Given the description of an element on the screen output the (x, y) to click on. 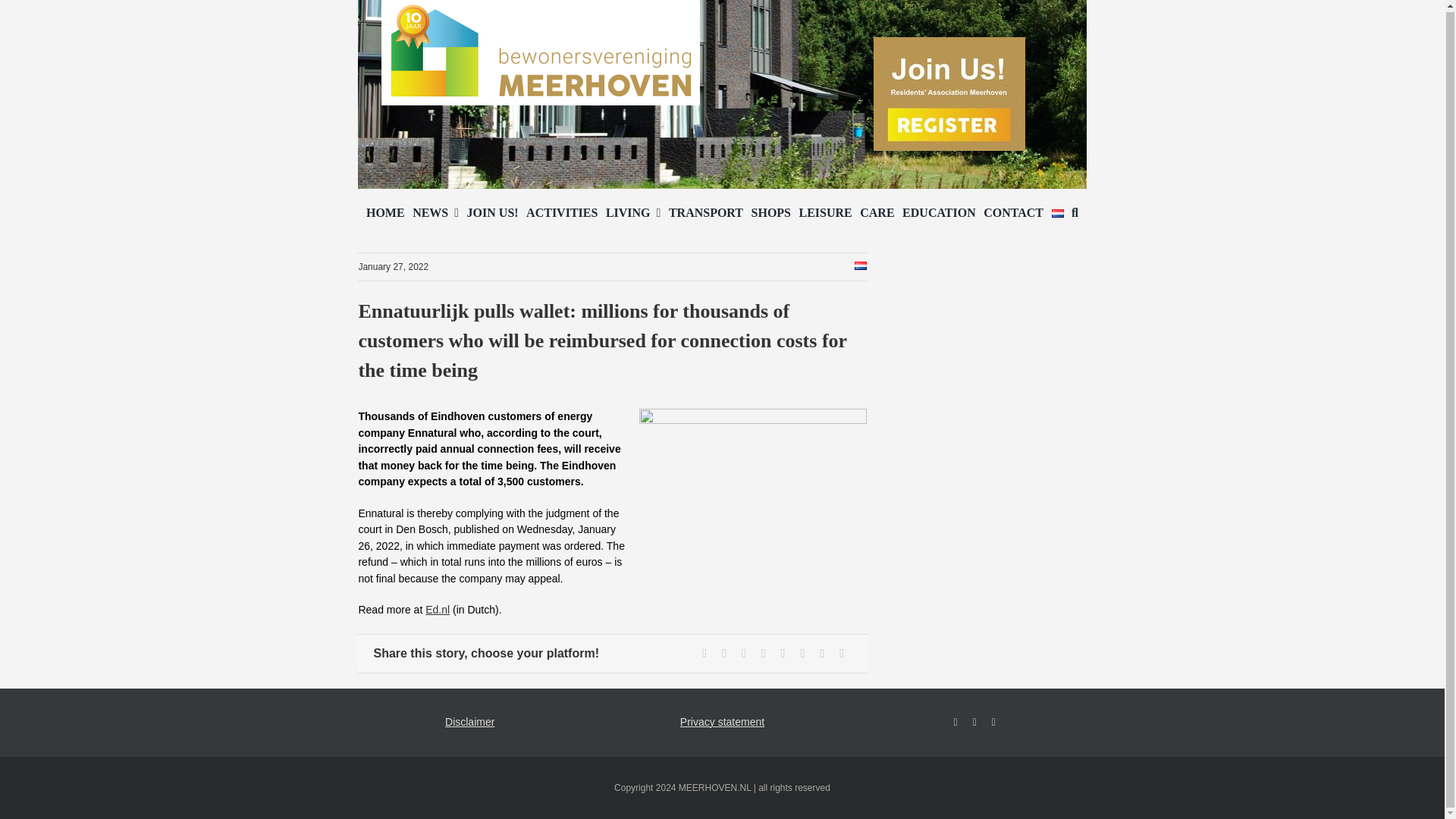
CONTACT (1013, 213)
Facebook (704, 653)
Email (841, 653)
LEISURE (825, 213)
Logo-BMV-10-jaar (540, 52)
JOIN US! (492, 213)
Vk (821, 653)
ACTIVITIES (560, 213)
LinkedIn (763, 653)
Tumblr (783, 653)
